Given the description of an element on the screen output the (x, y) to click on. 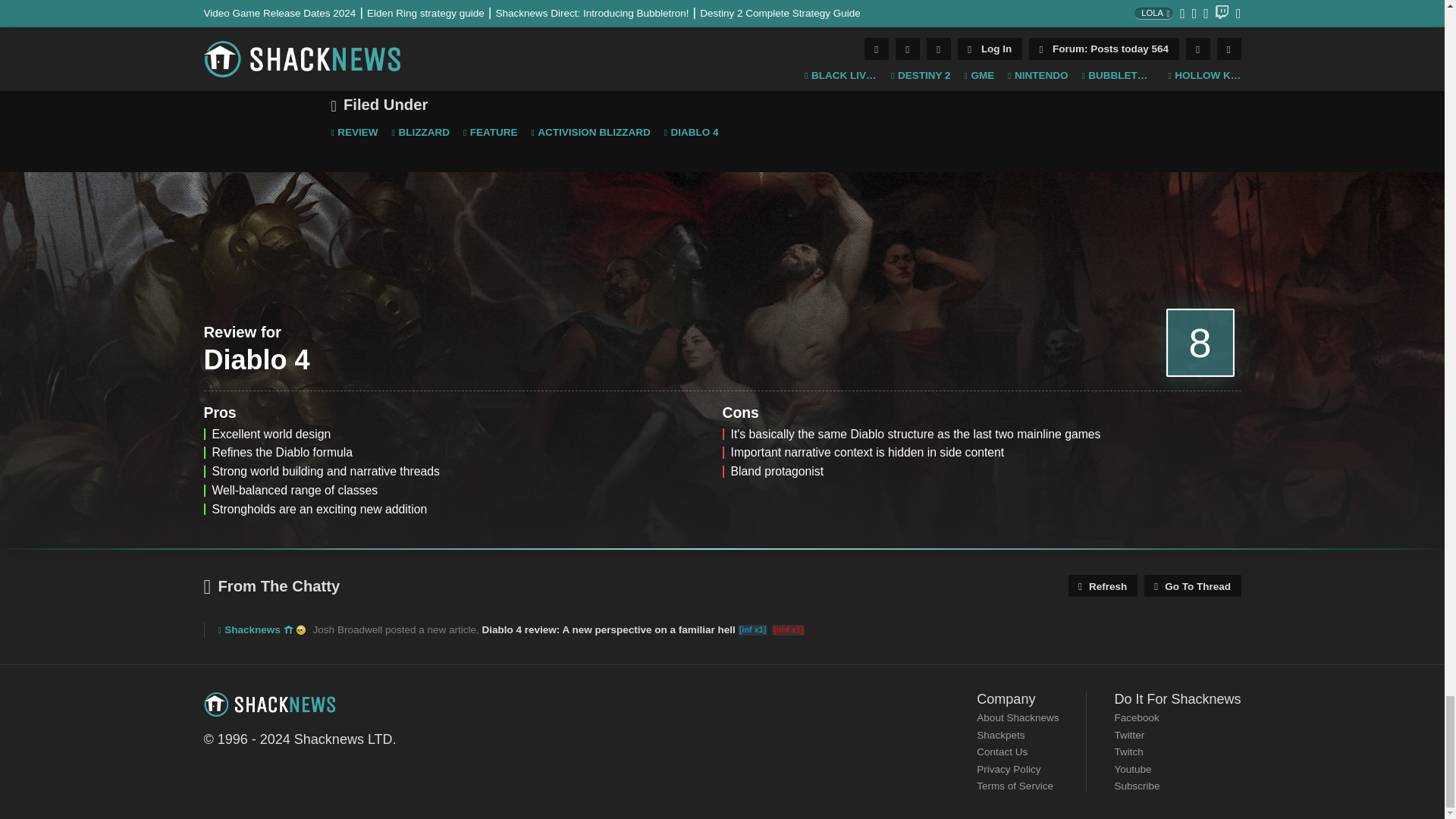
legacy 20 years (300, 629)
legacy 10 years (288, 629)
Contributing Editor (357, 0)
